Given the description of an element on the screen output the (x, y) to click on. 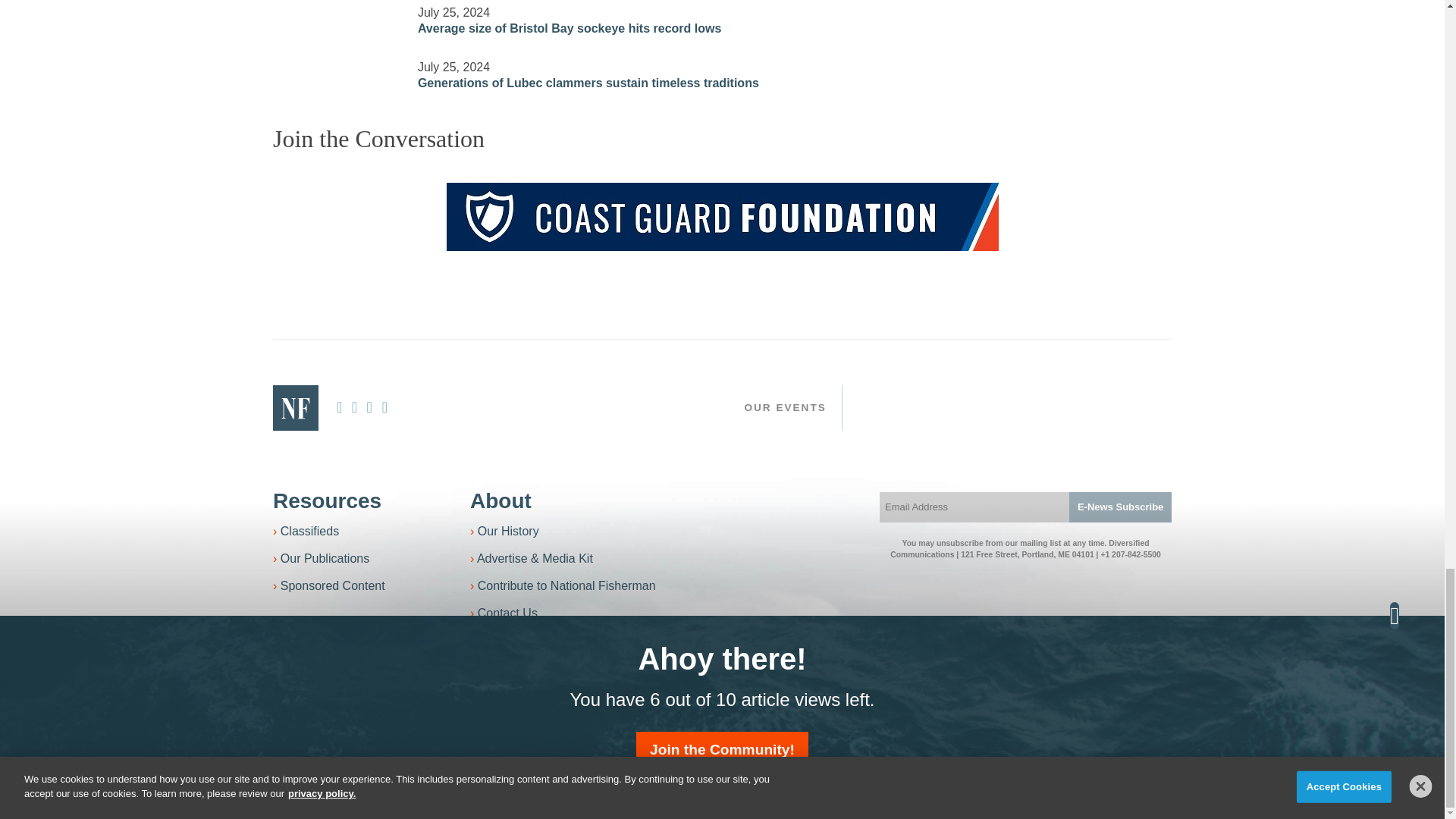
Generations of Lubec clammers sustain timeless traditions (335, 65)
Average size of Bristol Bay sockeye hits record lows (335, 11)
